Given the description of an element on the screen output the (x, y) to click on. 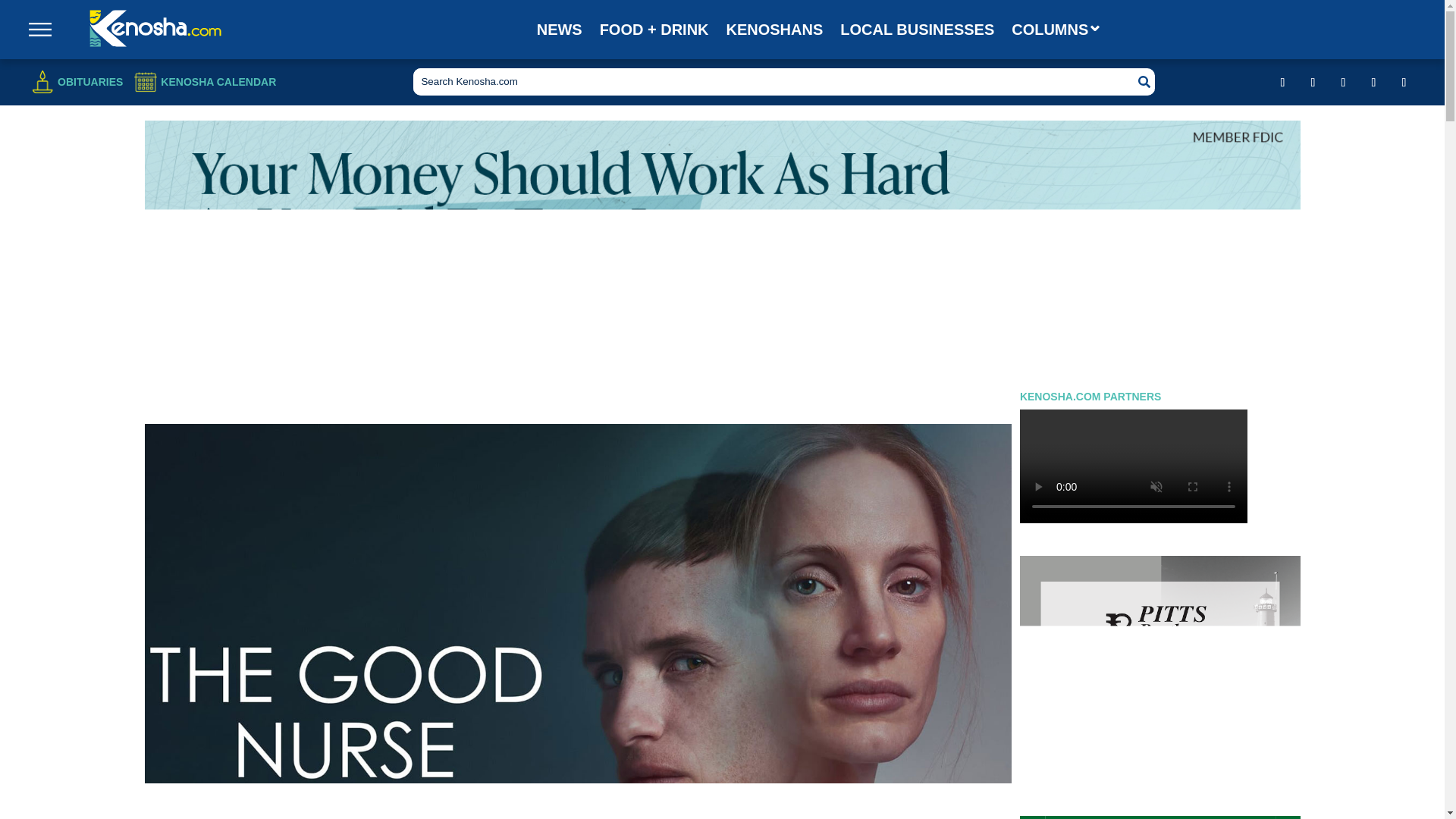
Follow on X (1373, 82)
Follow on Instagram (1312, 82)
Follow on LinkedIn (1343, 82)
Follow on Facebook (1283, 82)
Follow on Spotify (1403, 82)
